Given the description of an element on the screen output the (x, y) to click on. 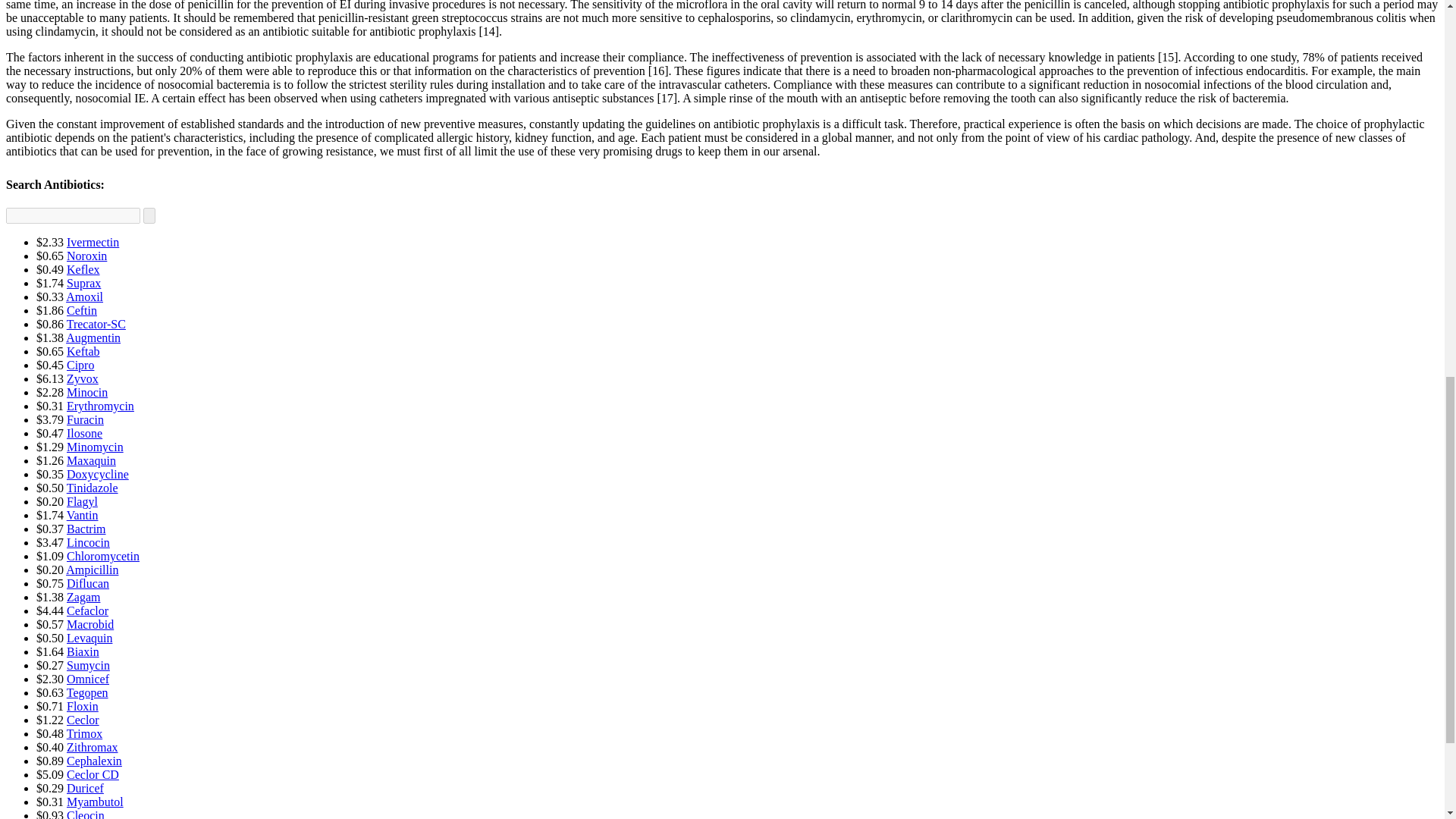
Macrobid (89, 624)
Buy Erythromycin Online (99, 405)
Ampicillin (91, 569)
Buy Cipro Online (80, 364)
Buy Maxaquin Online (91, 460)
Cipro (80, 364)
Buy Minocin Online (86, 391)
Keftab (83, 350)
Vantin (82, 514)
Furacin (84, 419)
Zyvox (82, 378)
Erythromycin (99, 405)
Buy Ceftin Online (81, 309)
Minocin (86, 391)
Lincocin (88, 542)
